Given the description of an element on the screen output the (x, y) to click on. 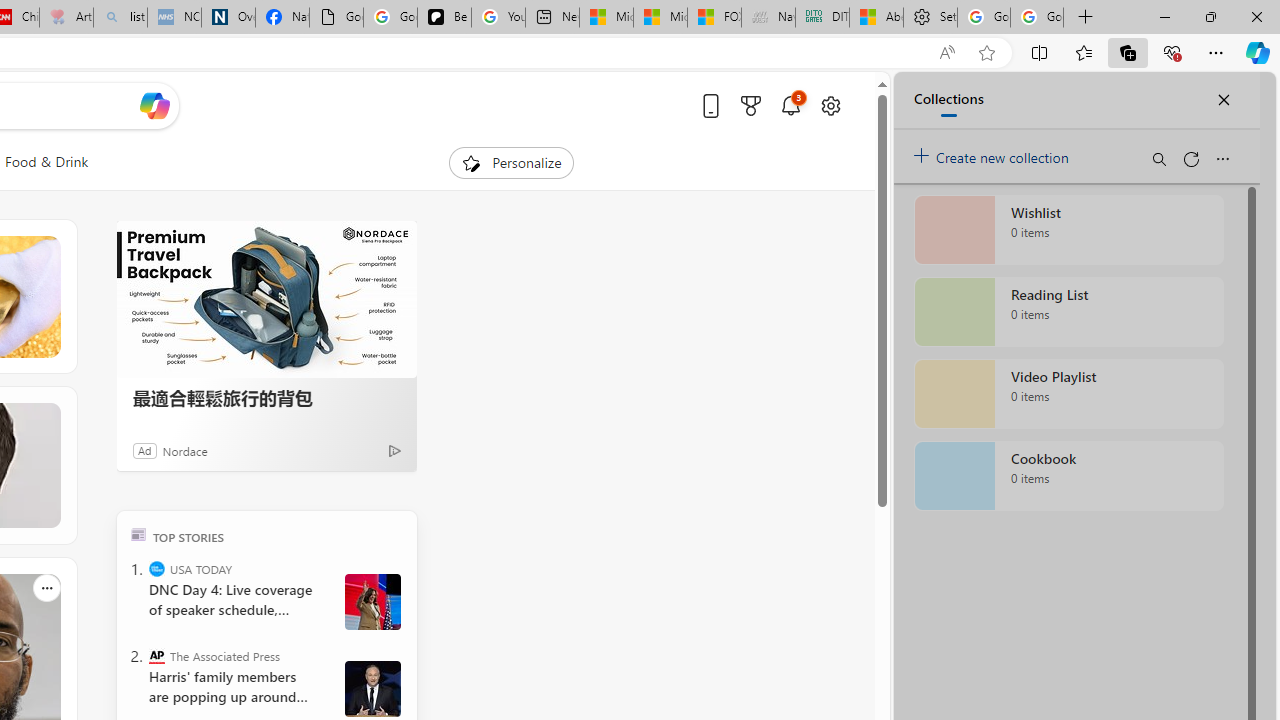
Google Analytics Opt-out Browser Add-on Download Page (336, 17)
USA TODAY (156, 568)
